Given the description of an element on the screen output the (x, y) to click on. 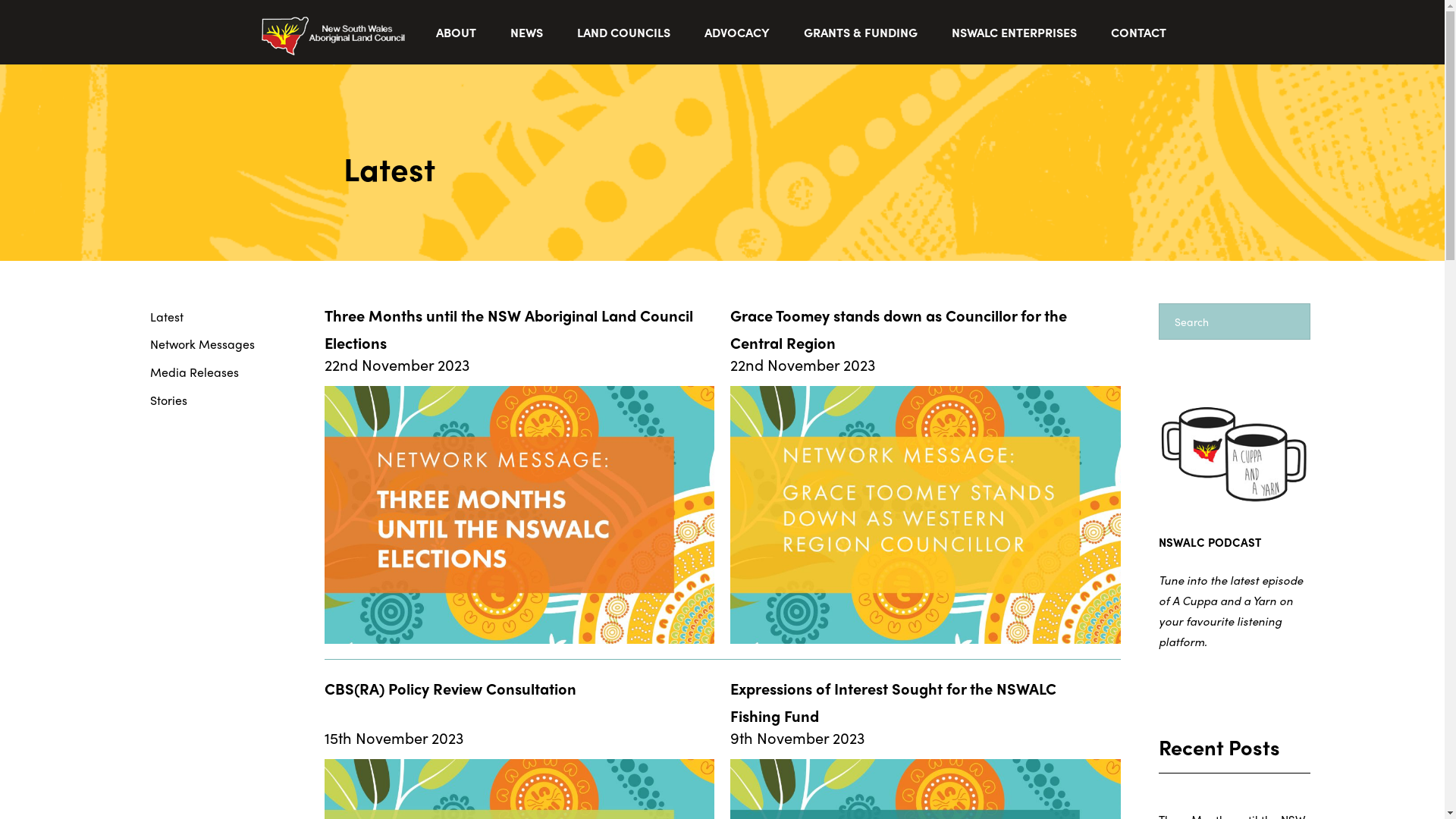
NEWS Element type: text (527, 32)
GRANTS & FUNDING Element type: text (862, 32)
NSWALC ENTERPRISES Element type: text (1015, 32)
LAND COUNCILS Element type: text (624, 32)
Three Months until the NSW Aboriginal Land Council Elections Element type: text (508, 328)
Media Releases Element type: text (210, 372)
Expressions of Interest Sought for the NSWALC Fishing Fund Element type: text (893, 701)
CONTACT Element type: text (1139, 32)
CBS(RA) Policy Review Consultation
15 November, 2023 Element type: text (1148, 174)
CBS(RA) Policy Review Consultation Element type: text (450, 688)
ABOUT Element type: text (457, 32)
Latest Element type: text (210, 317)
Network Messages Element type: text (210, 344)
Search Element type: text (75, 405)
Stories Element type: text (210, 400)
ADVOCACY Element type: text (737, 32)
